Given the description of an element on the screen output the (x, y) to click on. 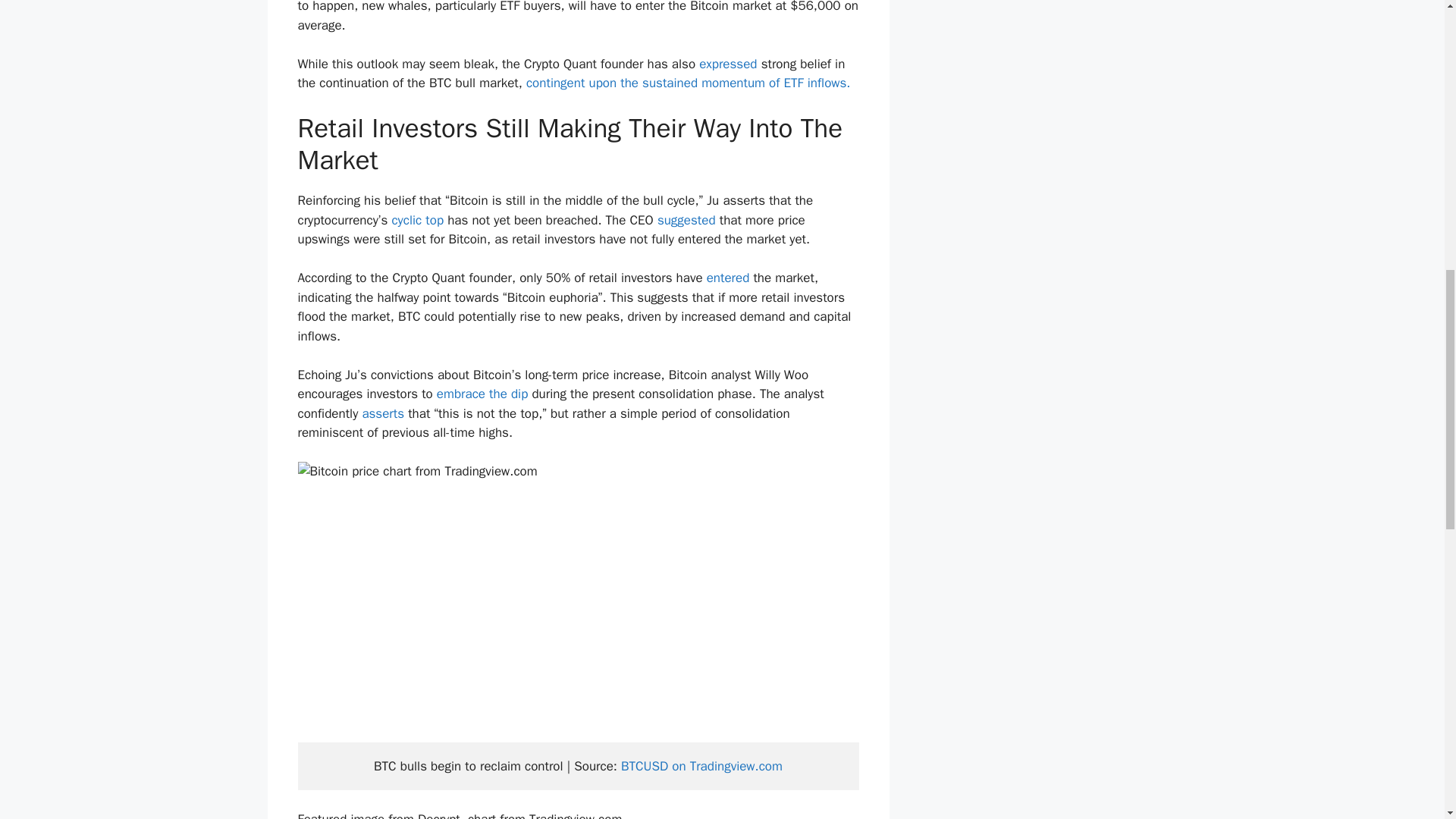
BTCUSD on Tradingview.com (702, 765)
embrace the dip (482, 393)
contingent upon the sustained momentum of ETF inflows.   (692, 82)
cyclic top (417, 220)
expressed (727, 64)
suggested (687, 220)
entered (727, 277)
asserts (382, 413)
